Given the description of an element on the screen output the (x, y) to click on. 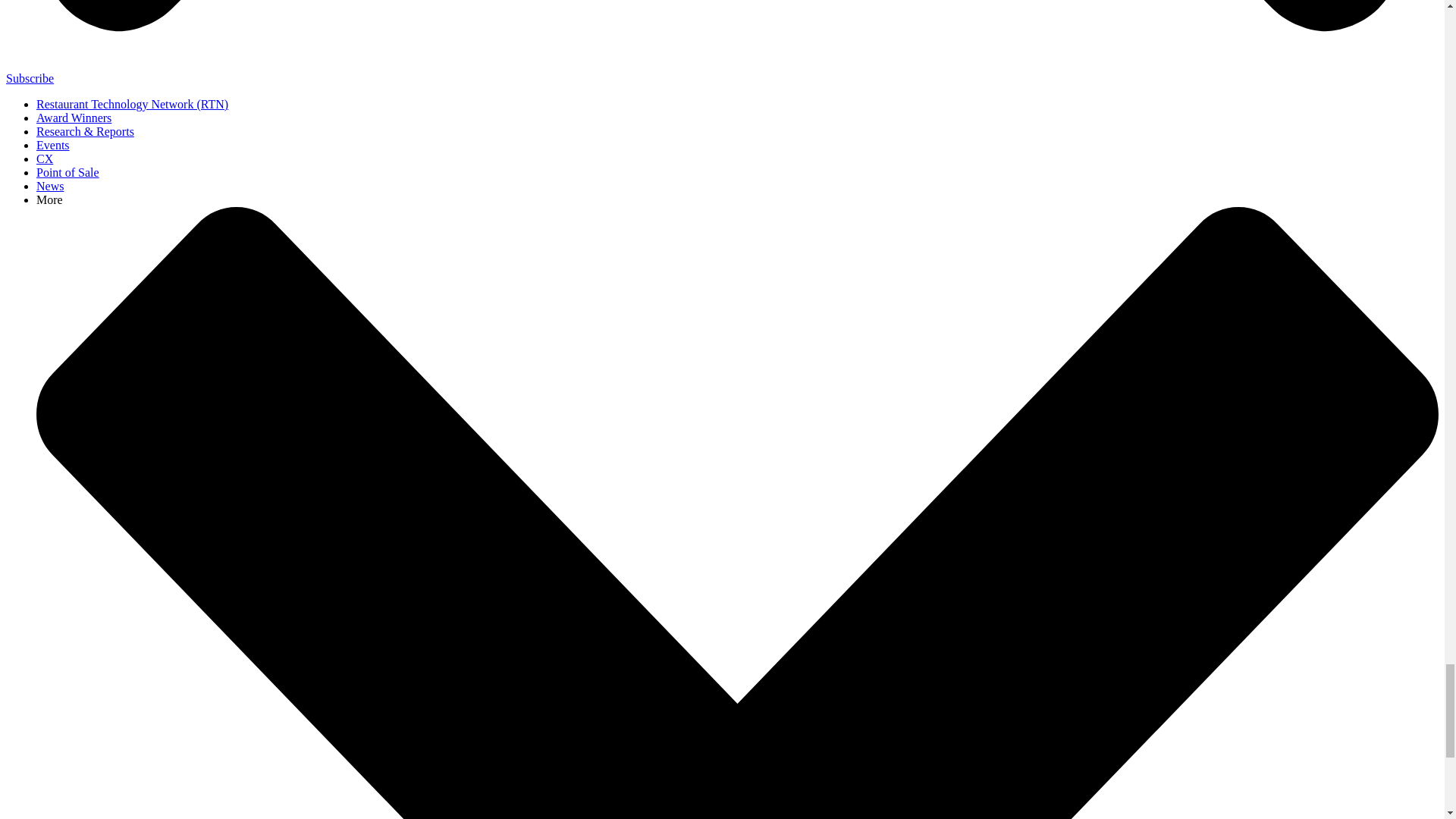
Events (52, 144)
CX (44, 158)
Point of Sale (67, 172)
Award Winners (74, 117)
More (49, 199)
News (50, 185)
Subscribe (29, 78)
